Given the description of an element on the screen output the (x, y) to click on. 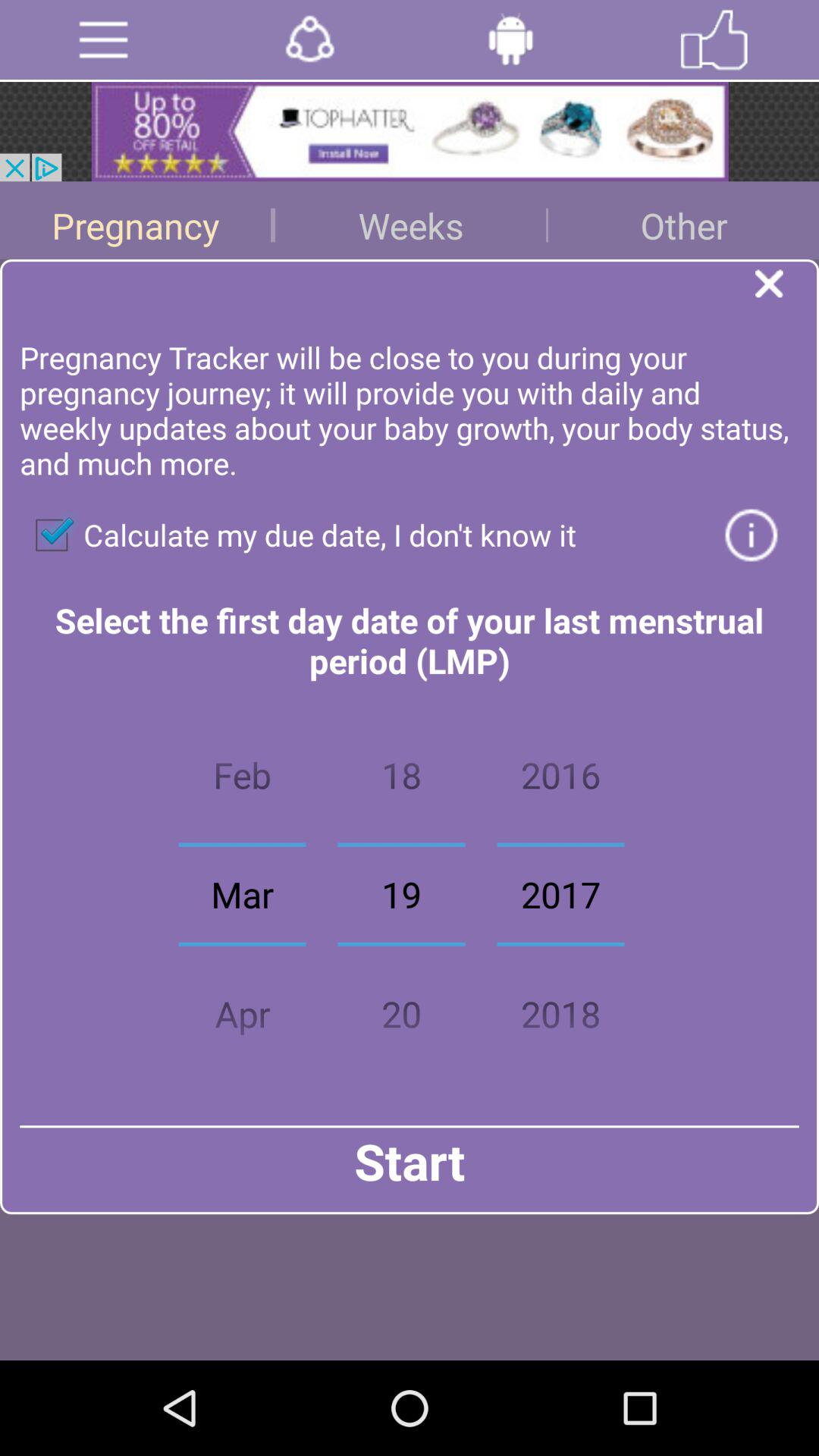
more information (751, 535)
